Given the description of an element on the screen output the (x, y) to click on. 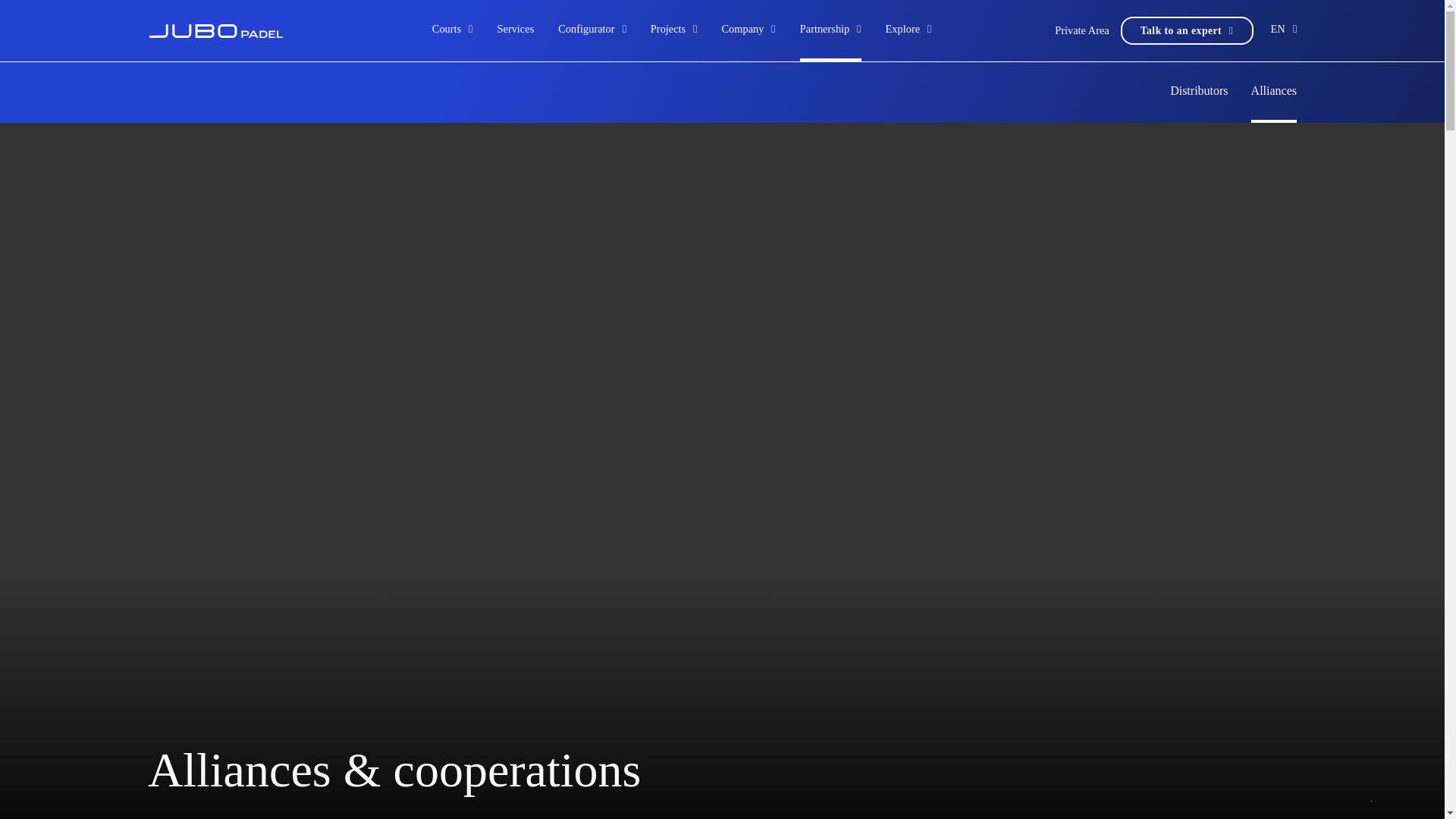
Configurator (585, 28)
Partnership (824, 28)
Services (515, 30)
En (1278, 28)
Explore (902, 28)
Company (743, 28)
Projects (667, 28)
Courts (446, 28)
